Given the description of an element on the screen output the (x, y) to click on. 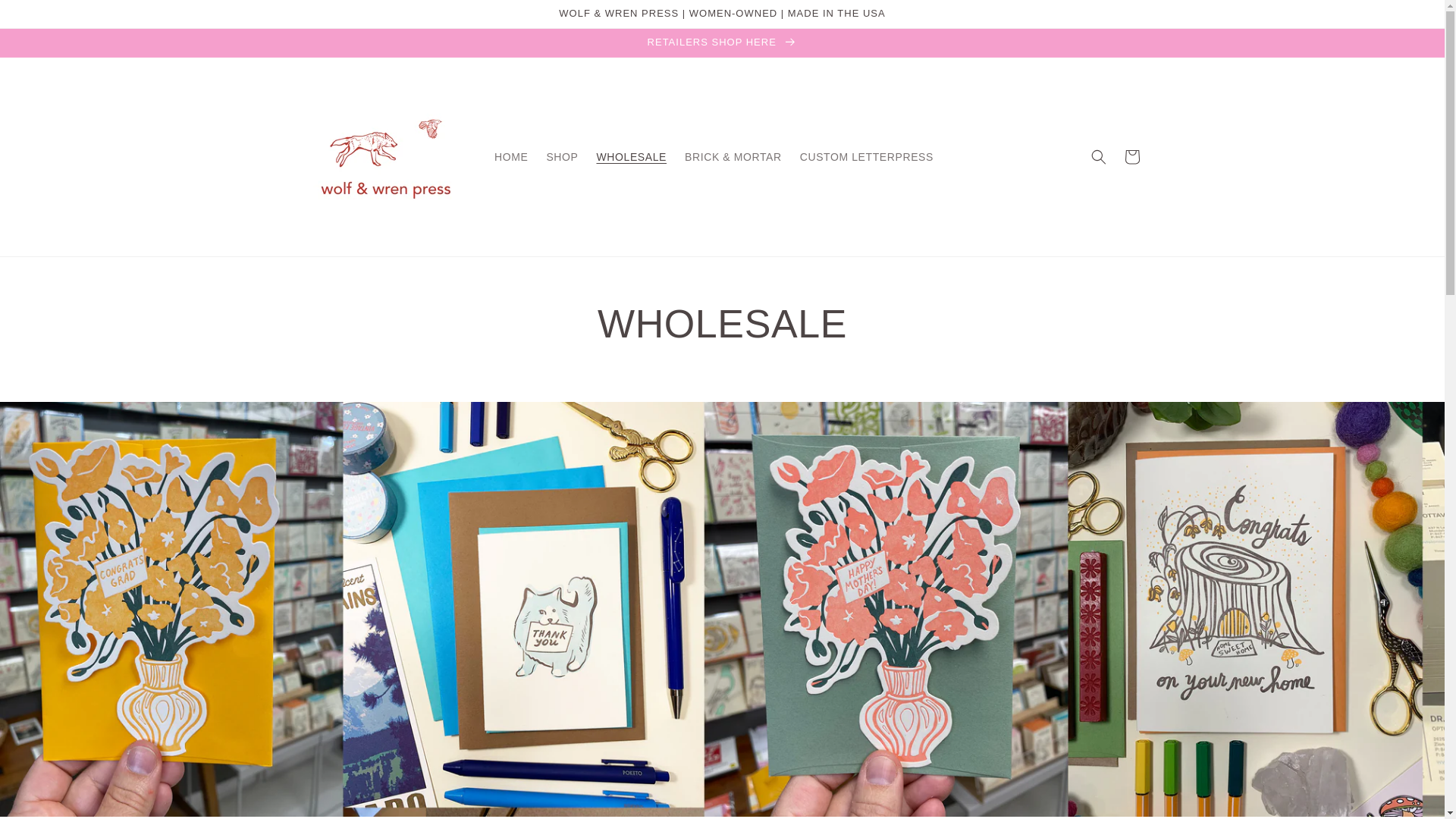
CUSTOM LETTERPRESS (866, 156)
Skip to content (46, 18)
WHOLESALE (630, 156)
HOME (510, 156)
SHOP (561, 156)
Cart (1131, 156)
